Given the description of an element on the screen output the (x, y) to click on. 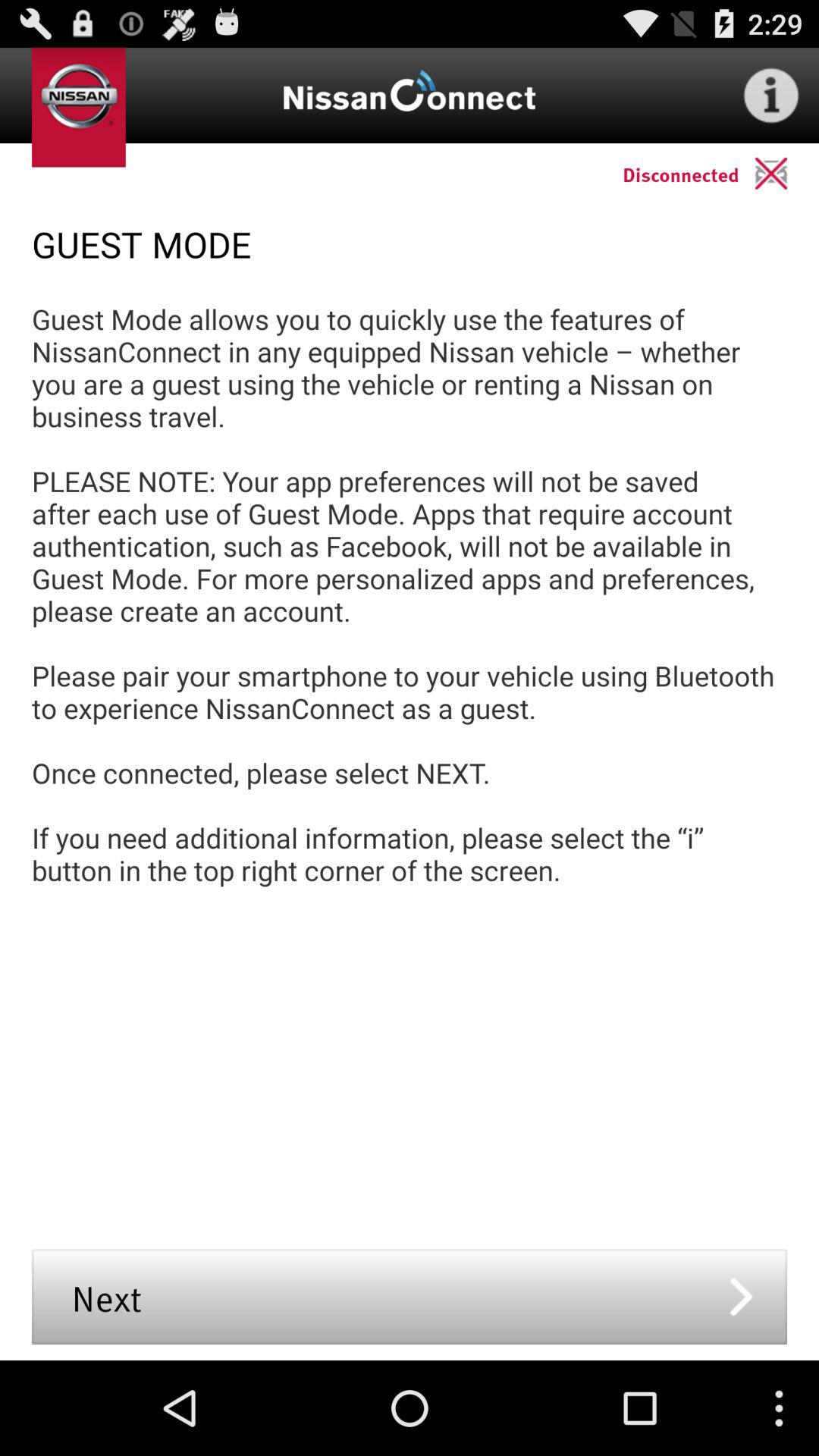
select image (787, 173)
